Given the description of an element on the screen output the (x, y) to click on. 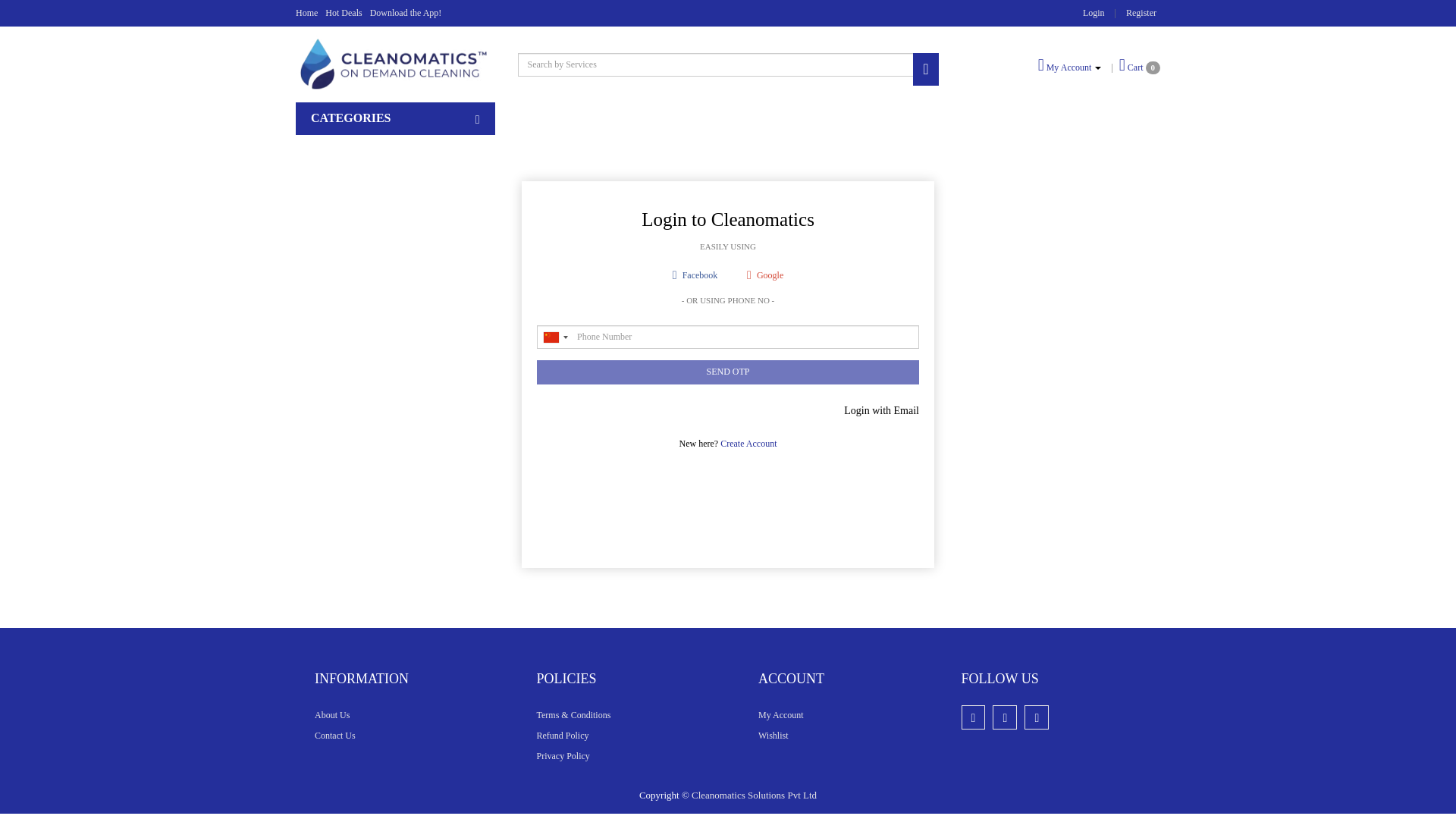
Download the App! (405, 12)
My Account (780, 715)
Hot Deals (342, 12)
Register (1140, 12)
Hot Deals (342, 12)
SEND OTP (727, 372)
Cart 0 (1139, 64)
facebook (972, 715)
Cleanomatics Solutions Pvt Ltd (753, 794)
Home (306, 12)
My Account (1070, 67)
Create Account (748, 443)
Privacy Policy (563, 756)
  Facebook (695, 275)
Cart (1139, 64)
